Given the description of an element on the screen output the (x, y) to click on. 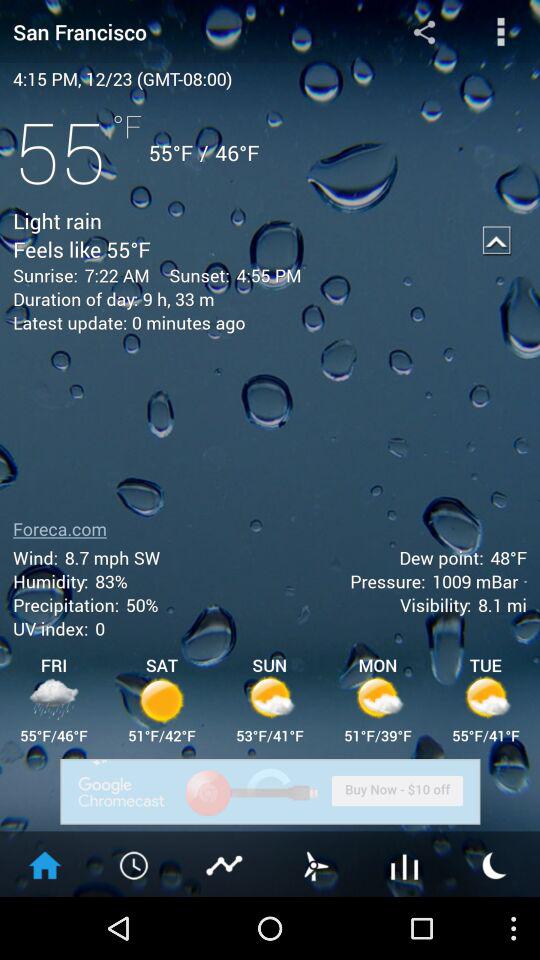
options (500, 31)
